Given the description of an element on the screen output the (x, y) to click on. 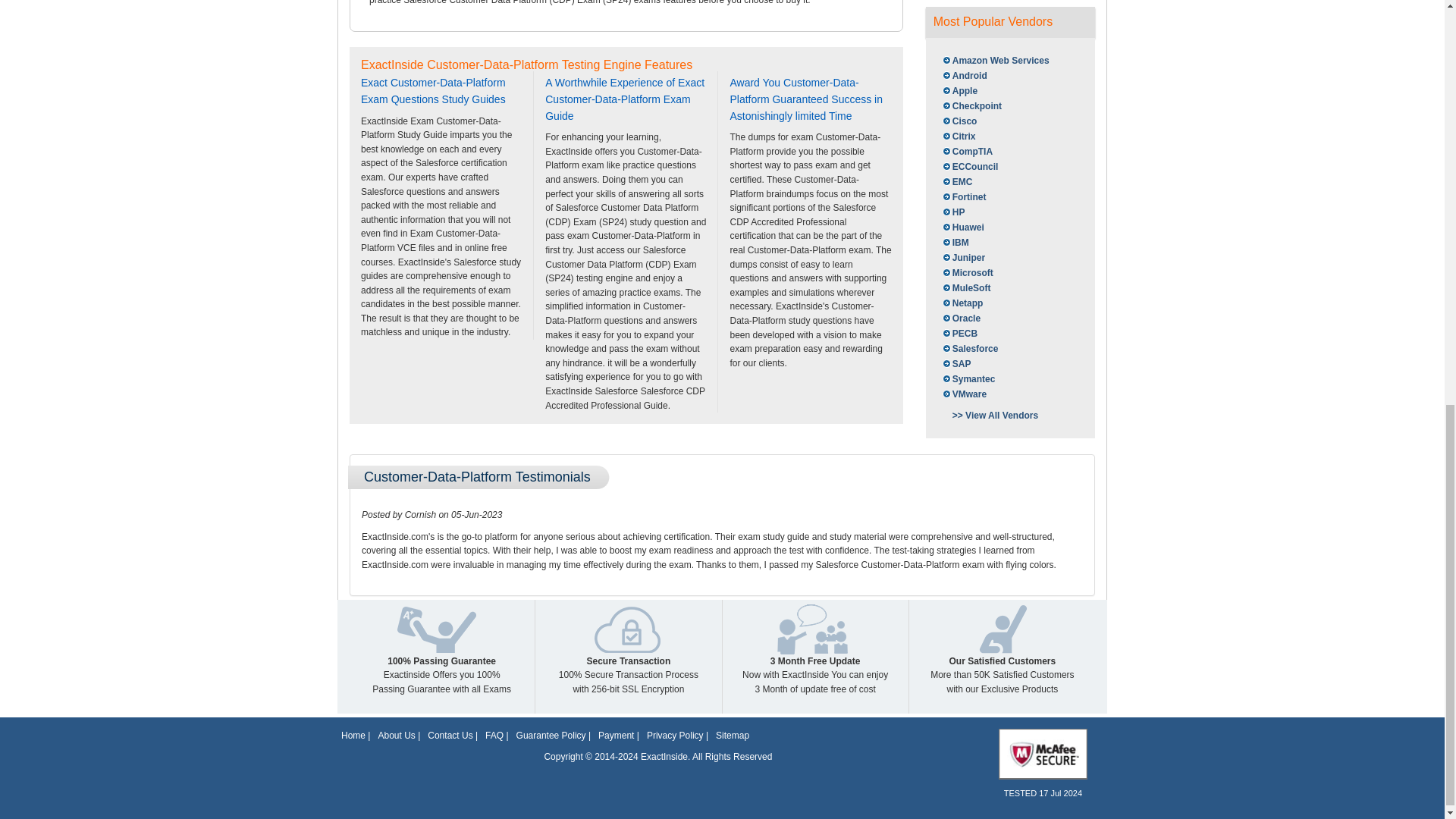
IBM (954, 242)
Android (963, 75)
Microsoft (966, 272)
Fortinet (963, 196)
CompTIA (966, 151)
Huawei (962, 227)
Checkpoint (970, 105)
Netapp (962, 303)
Apple (958, 90)
Citrix (957, 136)
Huawei (962, 227)
HP (952, 212)
CompTIA (966, 151)
Fortinet (963, 196)
HP (952, 212)
